Given the description of an element on the screen output the (x, y) to click on. 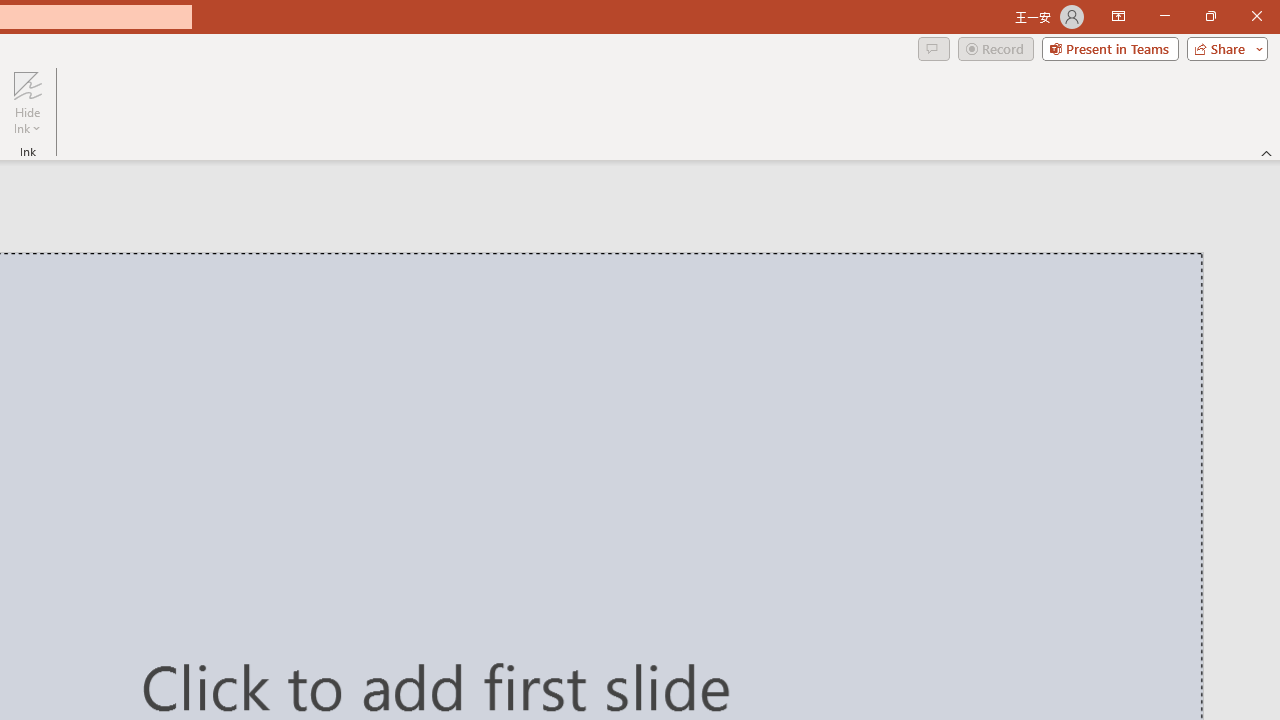
Hide Ink (27, 84)
Hide Ink (27, 102)
